Given the description of an element on the screen output the (x, y) to click on. 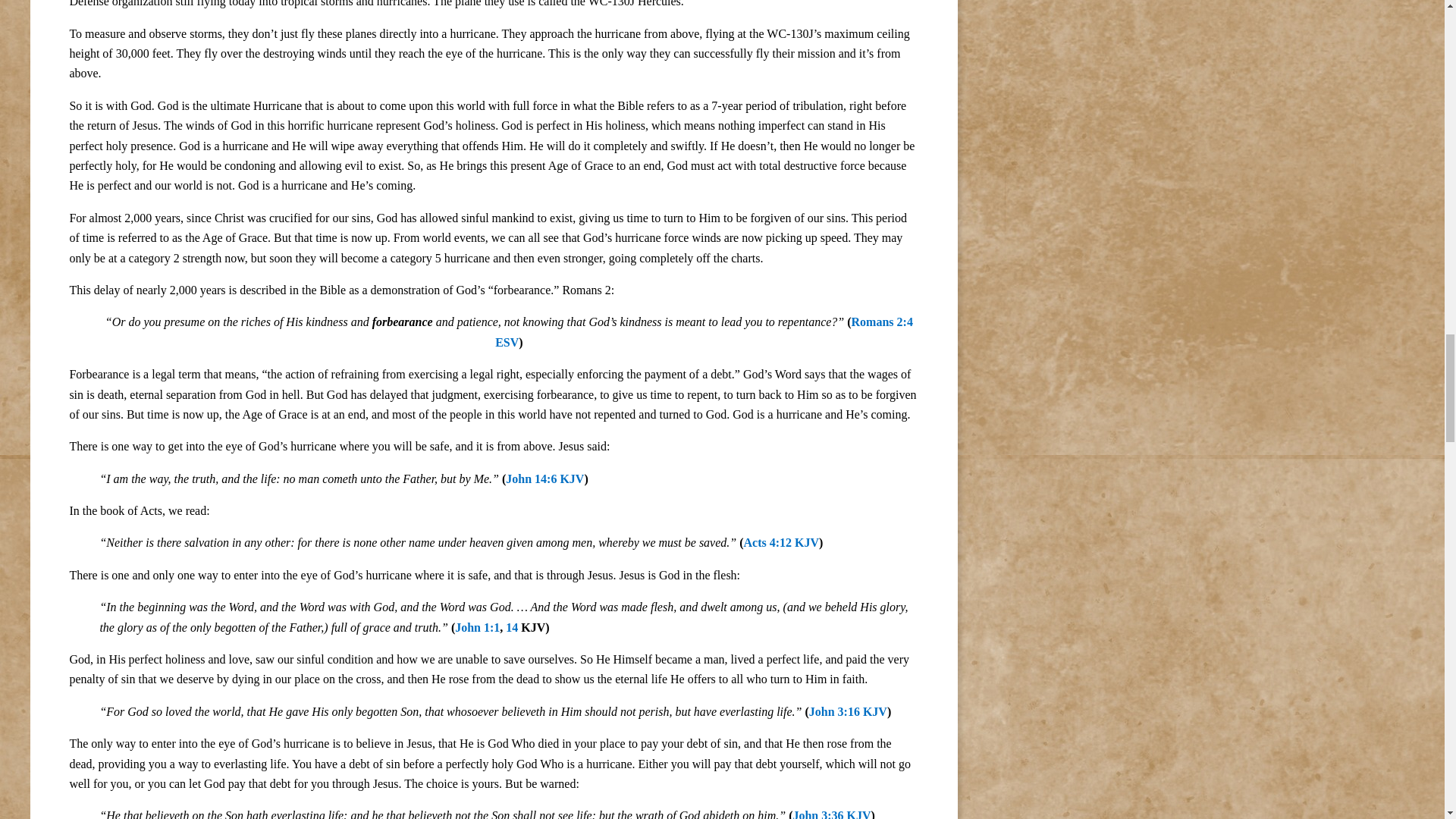
John 1:1 (476, 626)
Romans 2:4 ESV (703, 331)
John 3:36 KJV (831, 814)
14 (511, 626)
John 3:16 KJV (847, 711)
Acts 4:12 KJV (781, 542)
John 14:6 KJV (544, 478)
